Given the description of an element on the screen output the (x, y) to click on. 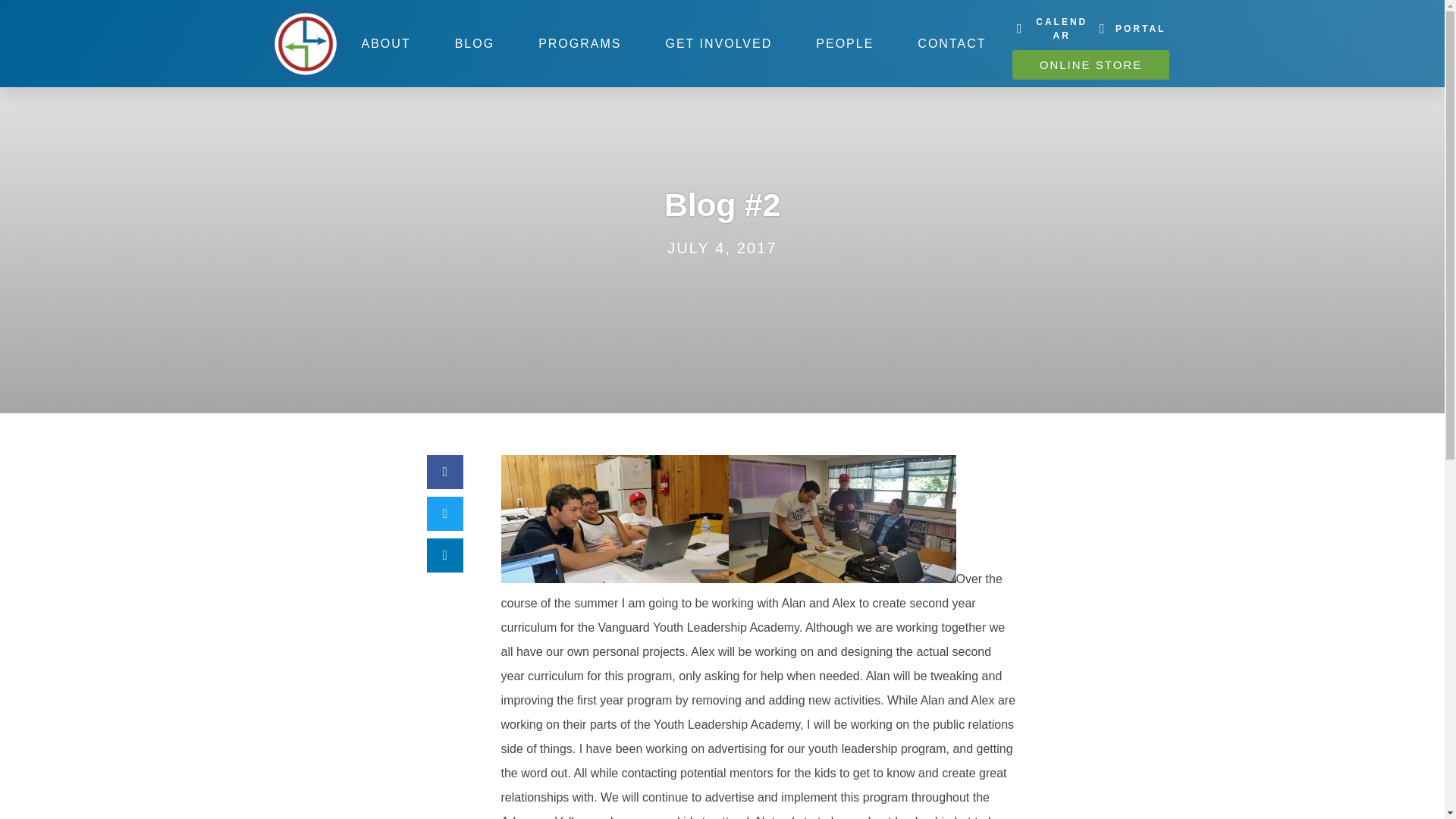
GET INVOLVED (718, 43)
PROGRAMS (579, 43)
PORTAL (1130, 29)
BLOG (474, 43)
PEOPLE (844, 43)
ABOUT (385, 43)
CALENDAR (1050, 28)
CONTACT (951, 43)
